Given the description of an element on the screen output the (x, y) to click on. 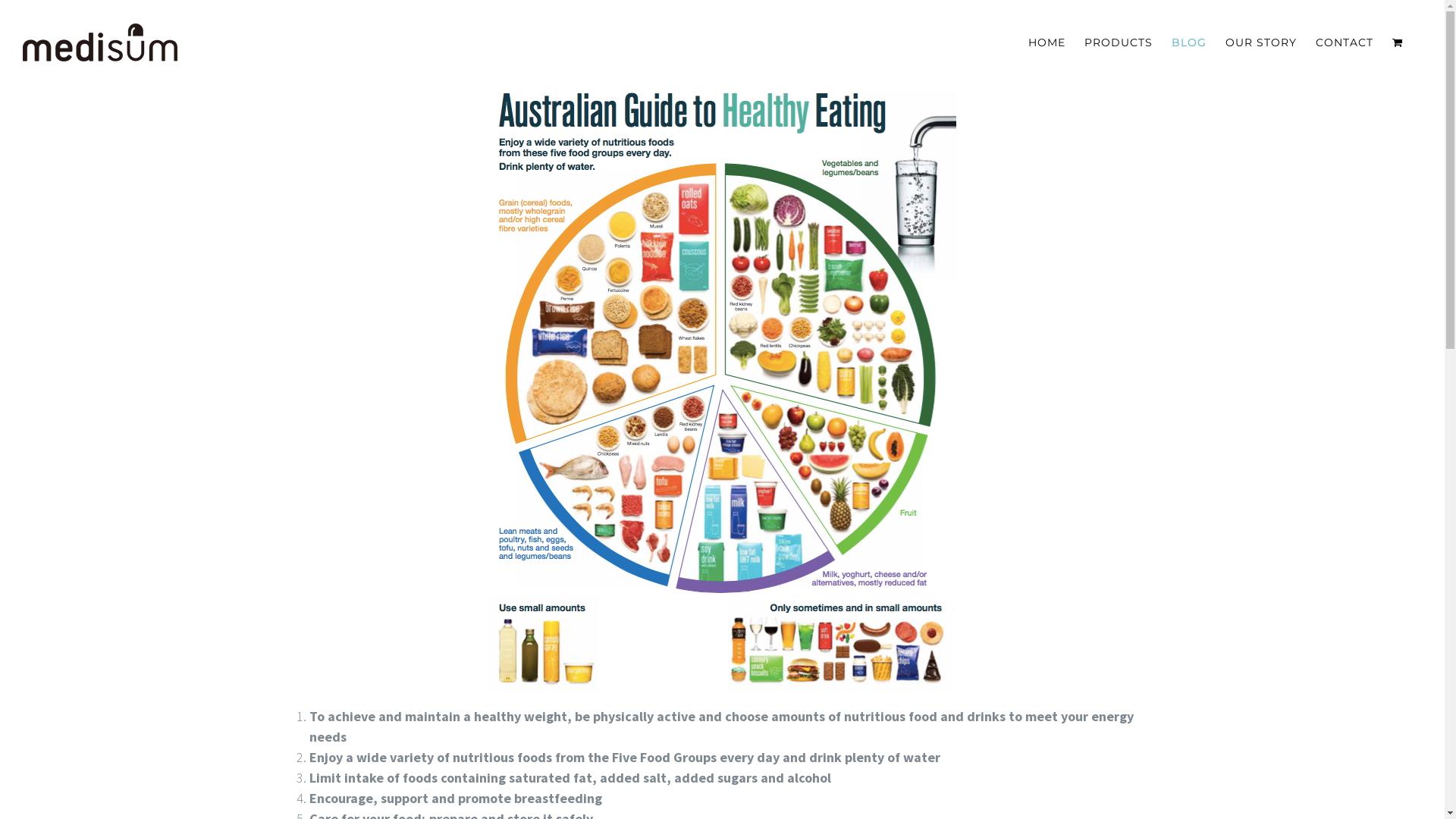
PRODUCTS Element type: text (1118, 42)
HOME Element type: text (1046, 42)
CONTACT Element type: text (1344, 42)
OUR STORY Element type: text (1260, 42)
BLOG Element type: text (1188, 42)
Screen Shot 2020-05-28 at 5.21.34 pm Element type: hover (722, 388)
